Given the description of an element on the screen output the (x, y) to click on. 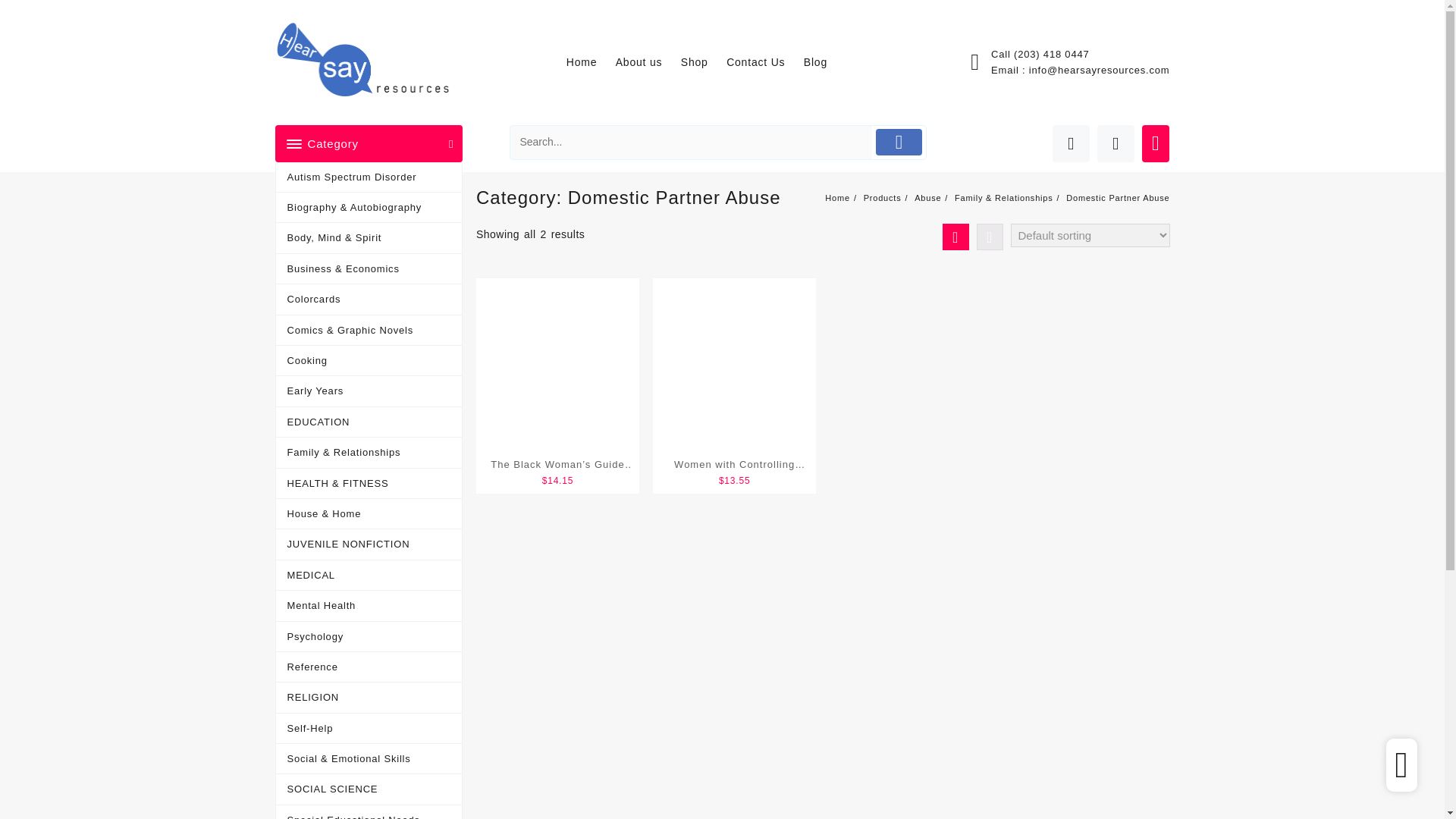
Search (691, 142)
List View (989, 236)
Blog (823, 62)
Grid View (955, 236)
Autism Spectrum Disorder (369, 177)
Contact Us (762, 62)
About us (646, 62)
Home (589, 62)
Shop (702, 62)
